Given the description of an element on the screen output the (x, y) to click on. 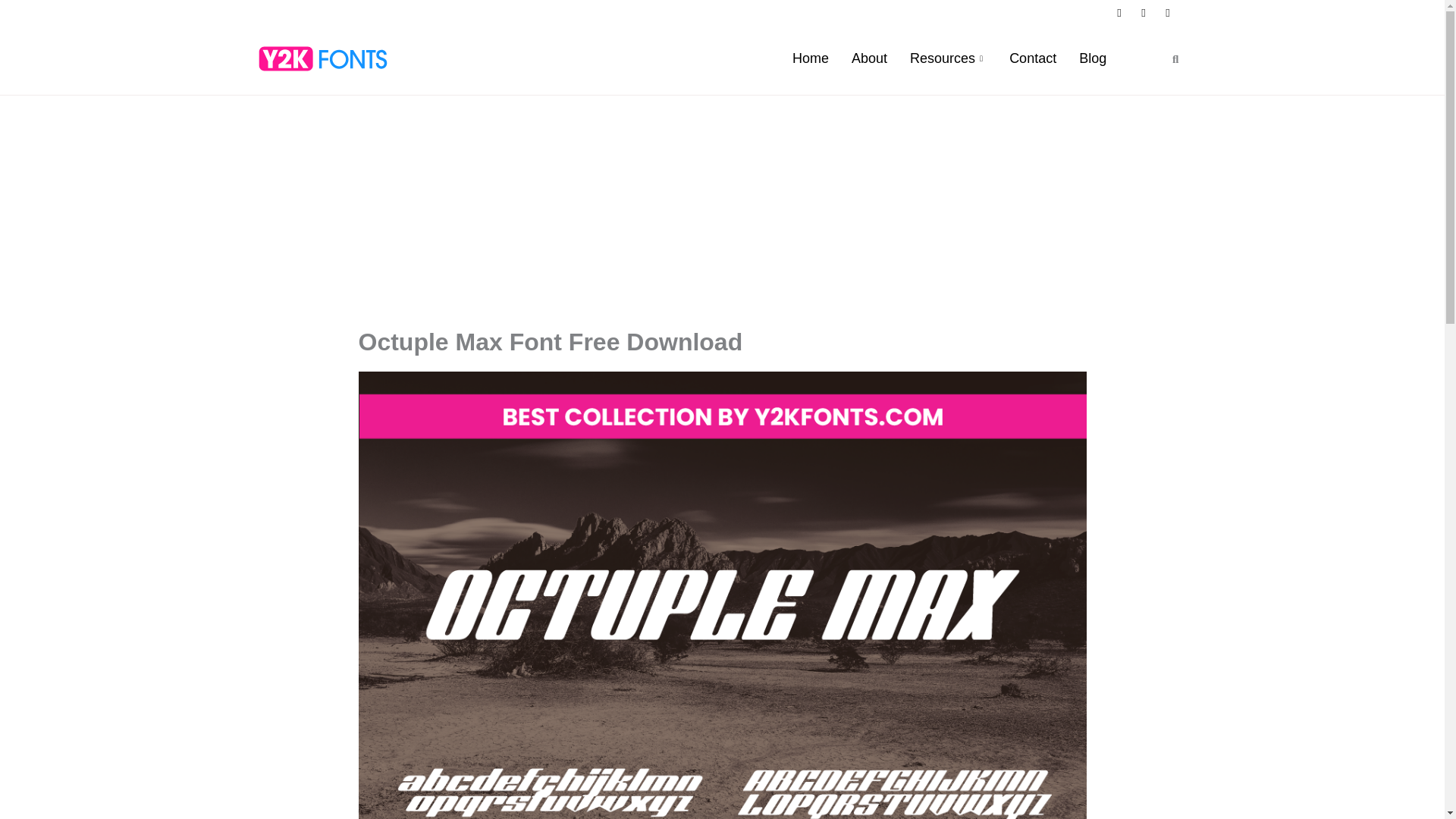
Resources (947, 58)
About (869, 58)
Home (810, 58)
Contact (1032, 58)
Blog (1092, 58)
Search (1170, 58)
